Given the description of an element on the screen output the (x, y) to click on. 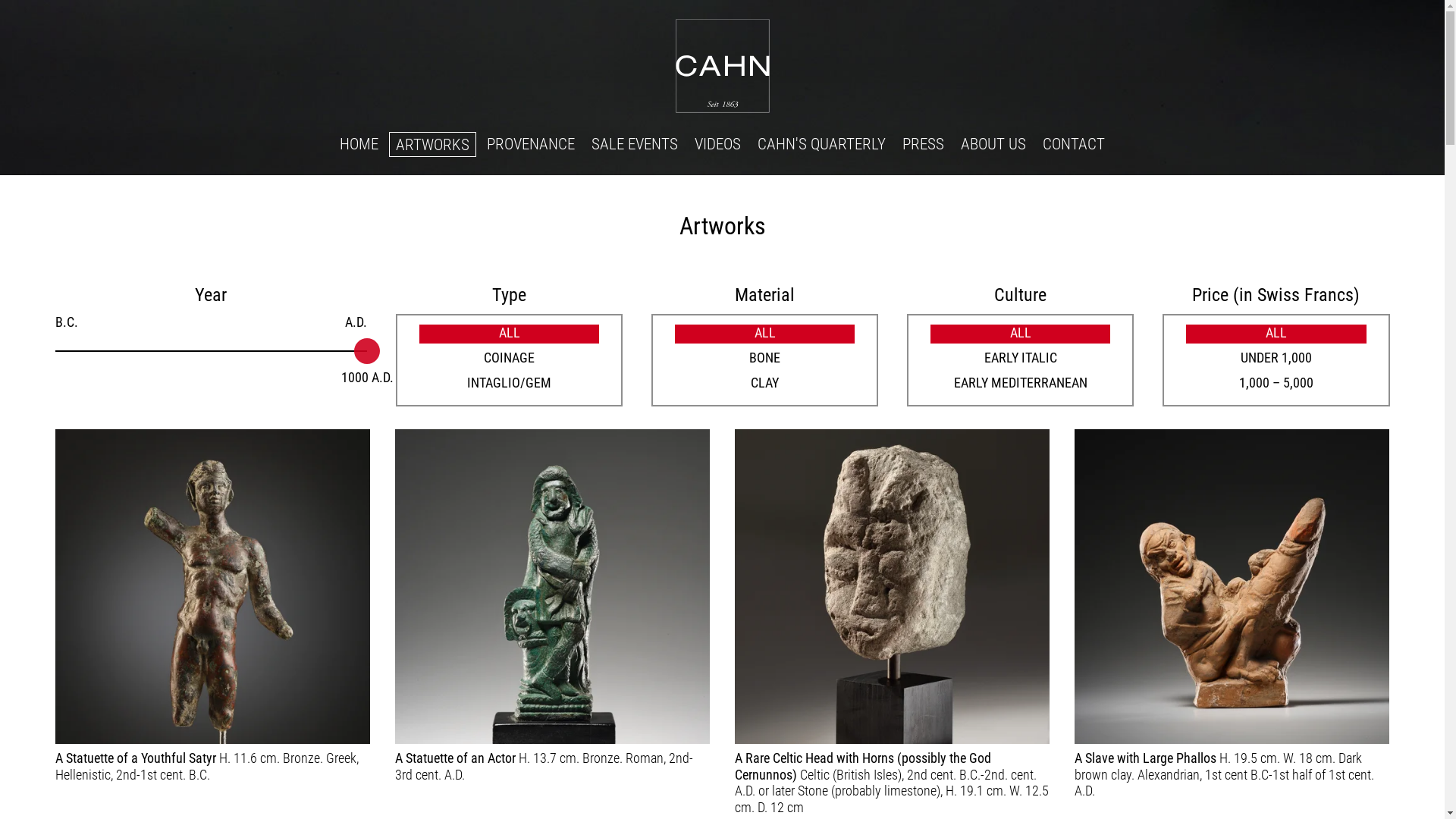
CONTACT Element type: text (1073, 143)
PRESS Element type: text (923, 143)
SALE EVENTS Element type: text (634, 143)
CAHN'S QUARTERLY Element type: text (821, 143)
HOME Element type: text (358, 143)
PROVENANCE Element type: text (530, 143)
ARTWORKS Element type: text (432, 143)
VIDEOS Element type: text (717, 143)
ABOUT US Element type: text (993, 143)
